Given the description of an element on the screen output the (x, y) to click on. 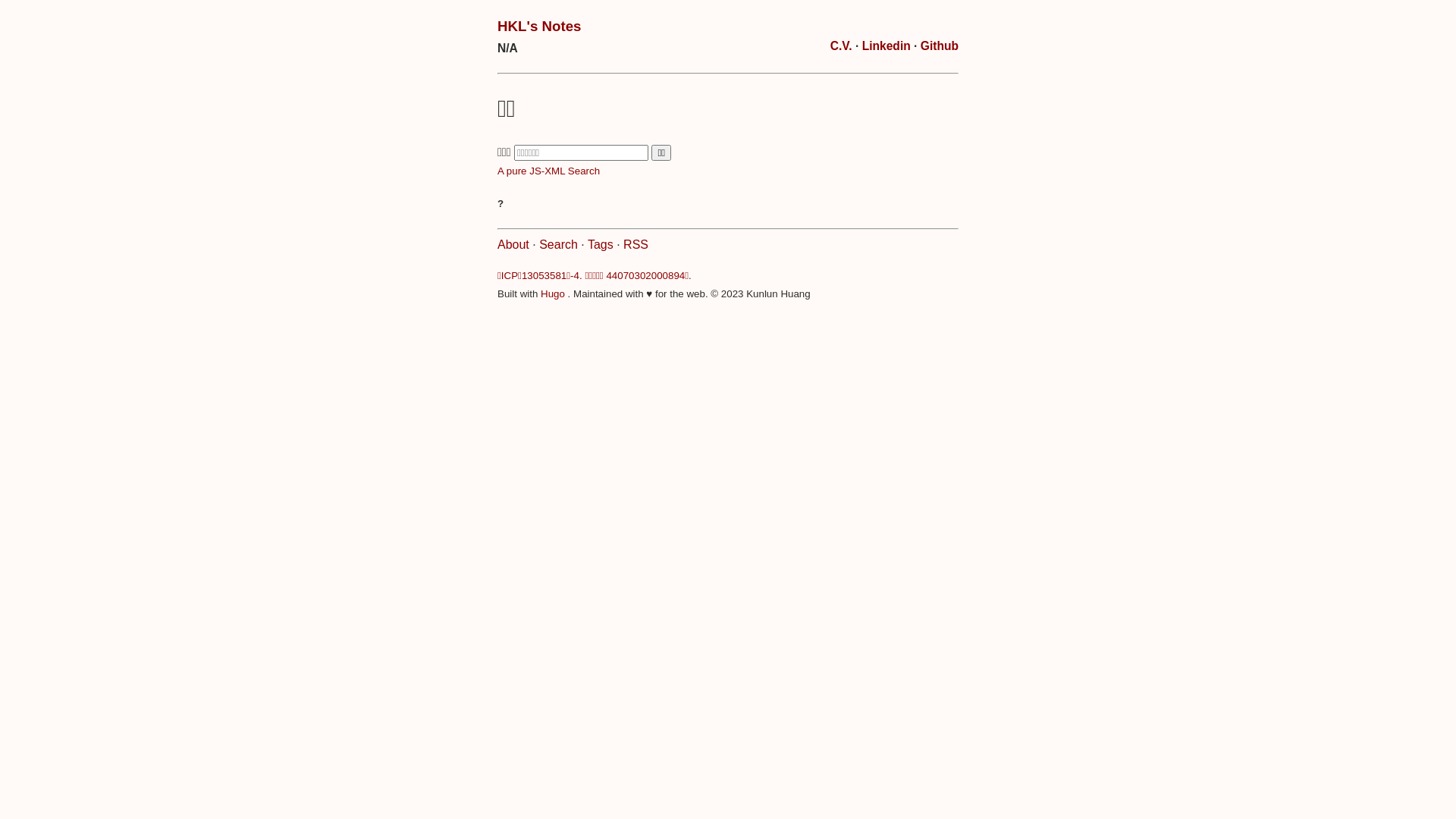
A pure JS-XML Search Element type: text (548, 170)
Search Element type: text (558, 244)
Tags Element type: text (600, 244)
Github Element type: text (939, 45)
C.V. Element type: text (841, 45)
About Element type: text (513, 244)
Hugo Element type: text (552, 293)
Linkedin Element type: text (886, 45)
HKL's Notes Element type: text (538, 26)
RSS Element type: text (635, 244)
